Given the description of an element on the screen output the (x, y) to click on. 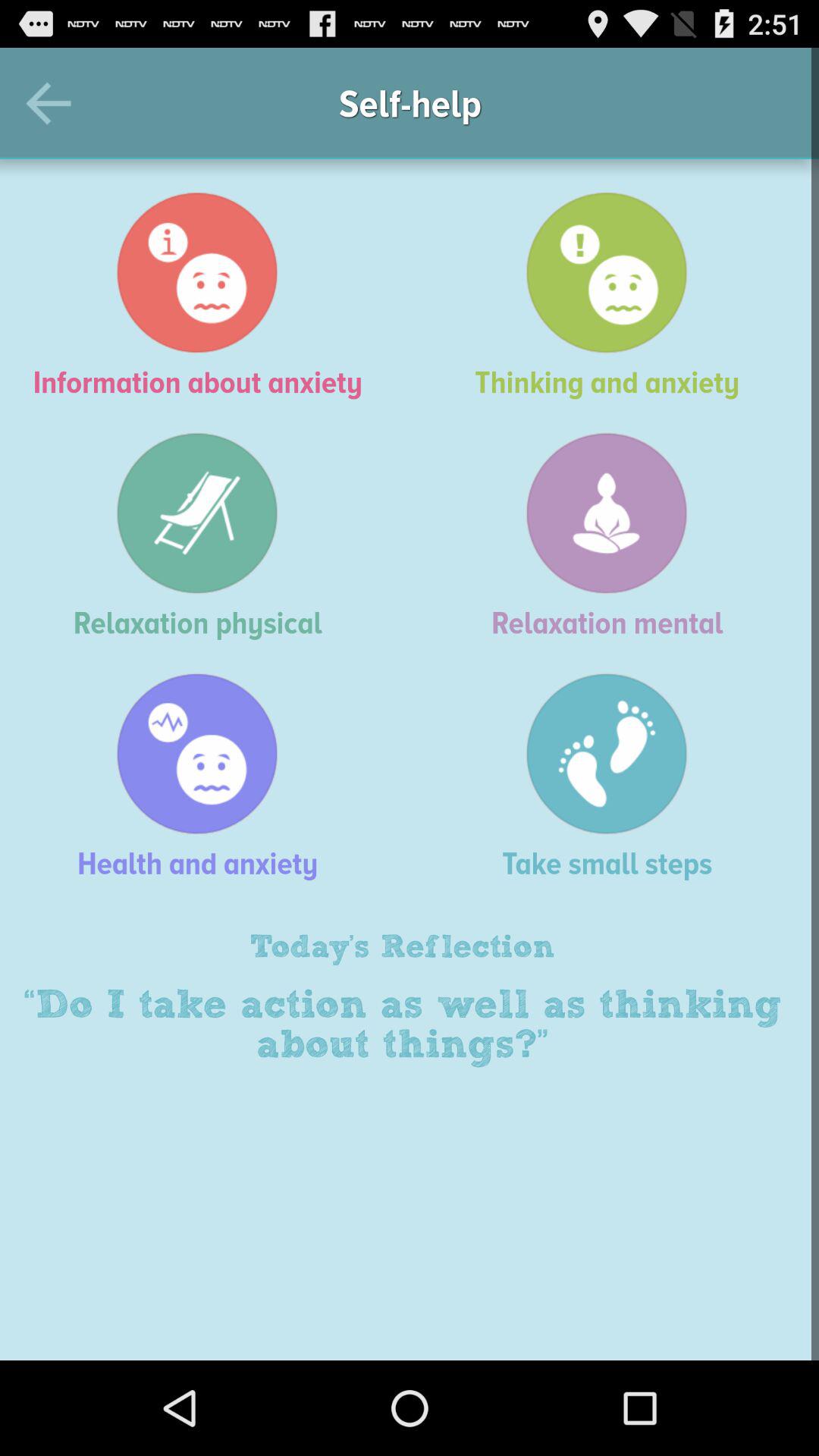
select the icon next to the thinking and anxiety (204, 295)
